Given the description of an element on the screen output the (x, y) to click on. 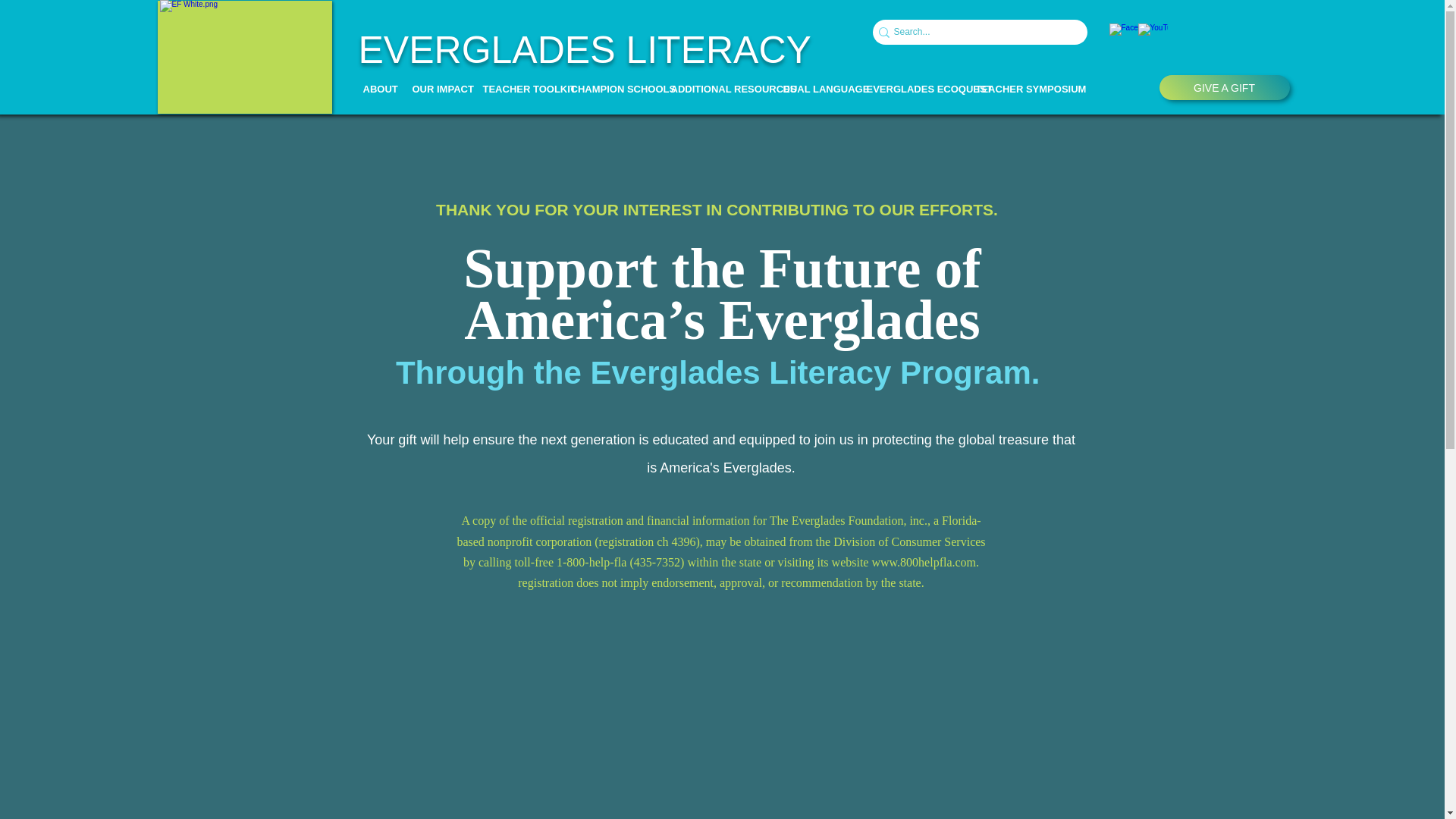
ADDITIONAL RESOURCES (715, 89)
EVERGLADES LITERACY (584, 49)
OUR IMPACT (435, 89)
TEACHER TOOLKIT (515, 89)
GIVE A GIFT (1223, 87)
CHAMPION SCHOOLS (609, 89)
www.800helpfla.com (922, 562)
TEACHER SYMPOSIUM (1015, 89)
EVERGLADES ECOQUEST (909, 89)
DUAL LANGUAGE (813, 89)
ABOUT (376, 89)
